Given the description of an element on the screen output the (x, y) to click on. 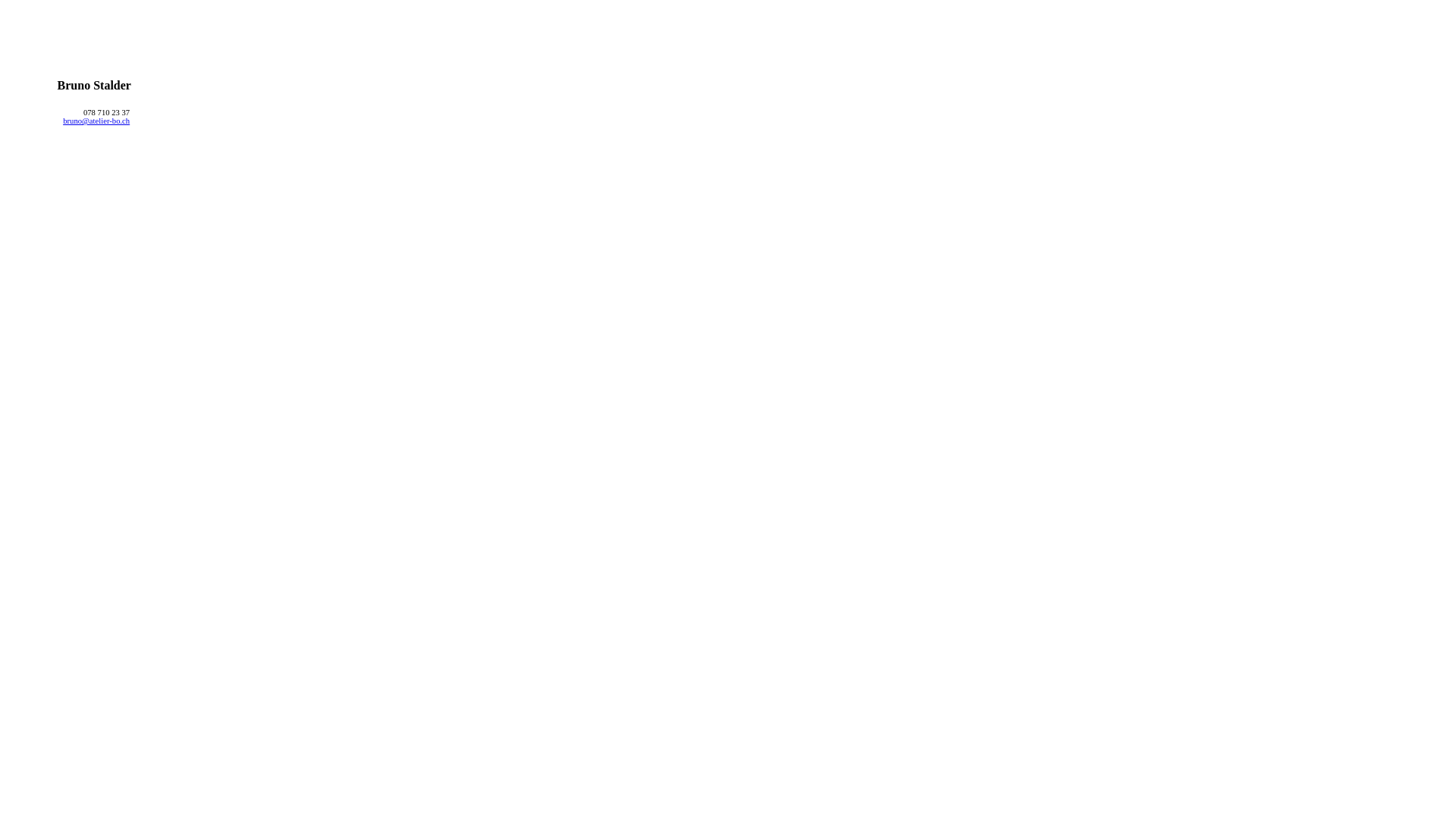
bruno@atelier-bo.ch Element type: text (95, 120)
